Given the description of an element on the screen output the (x, y) to click on. 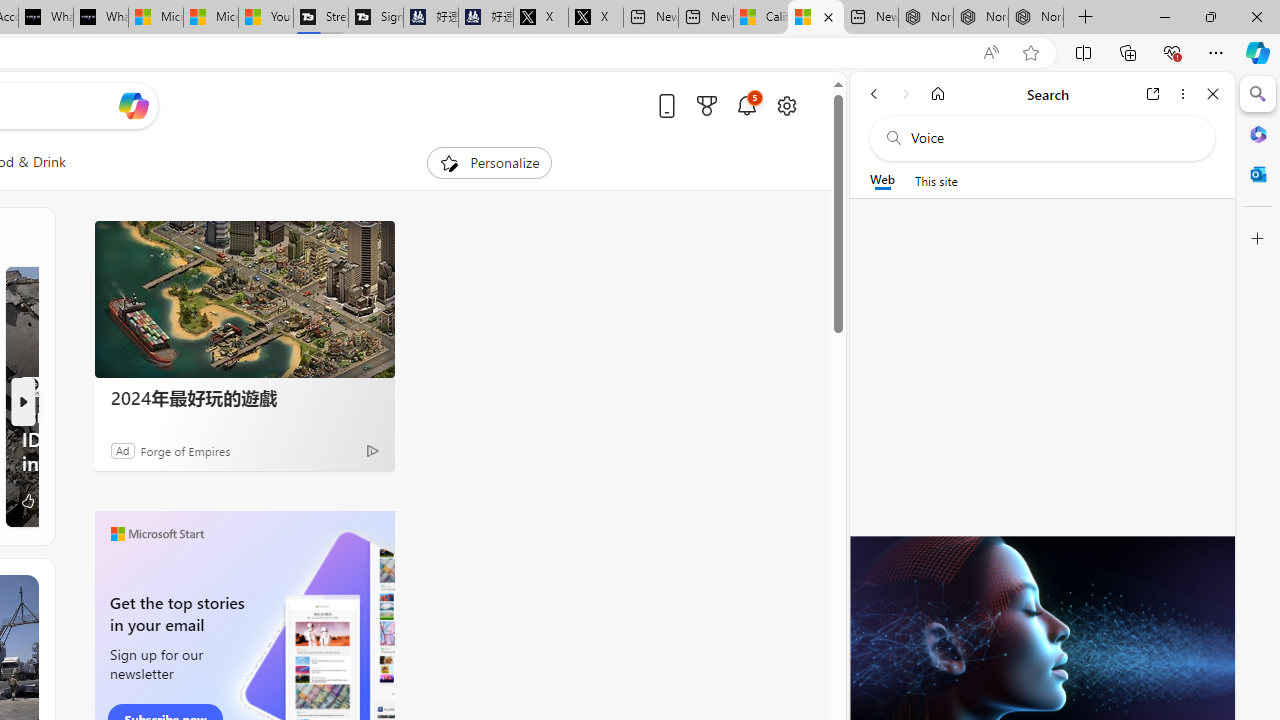
Microsoft 365 (1258, 133)
Forge of Empires (184, 450)
Streaming Coverage | T3 (321, 17)
X (596, 17)
Open settings (786, 105)
What's the best AI voice generator? - voice.ai (100, 17)
